Given the description of an element on the screen output the (x, y) to click on. 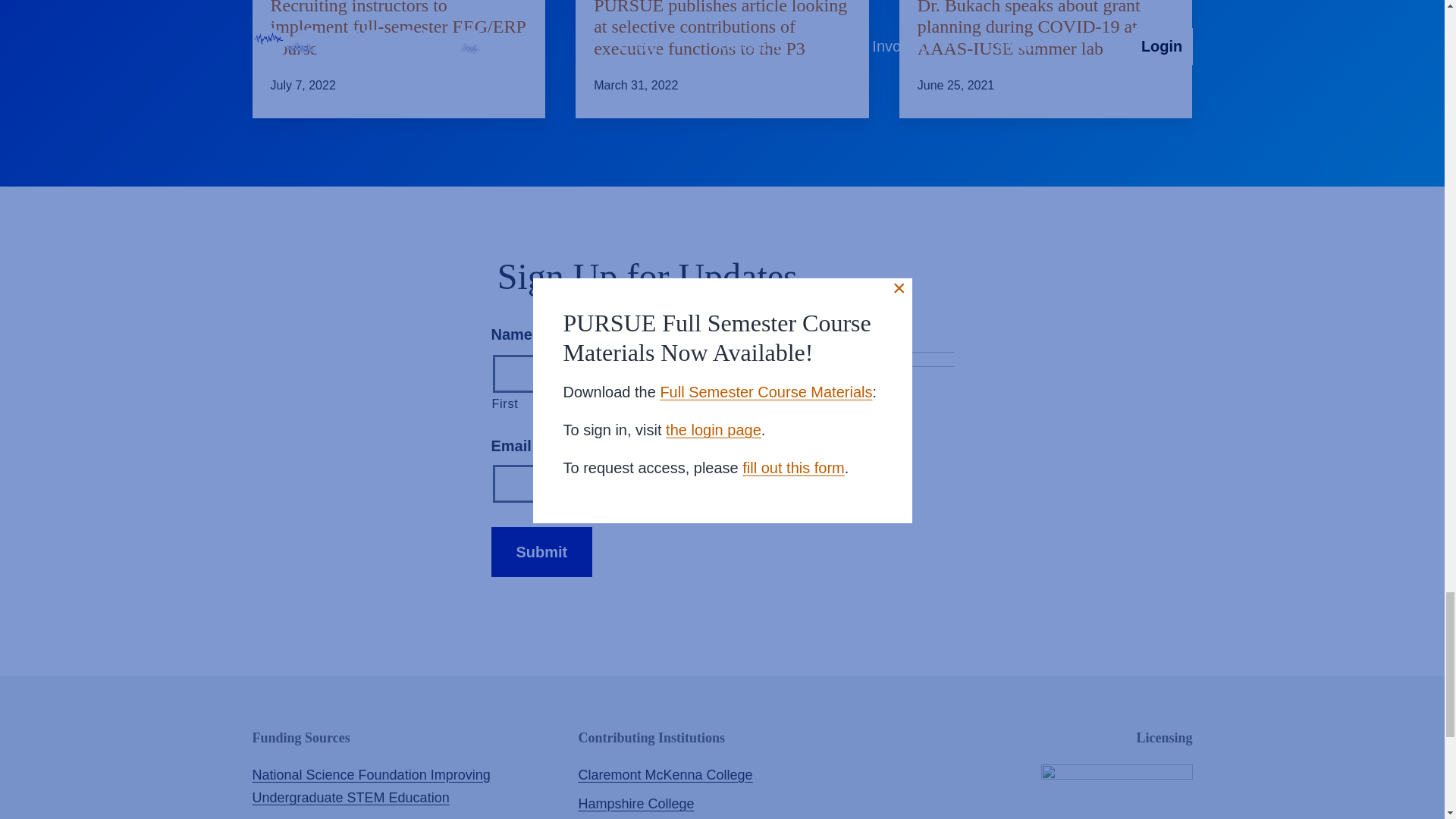
Submit (542, 552)
Claremont McKenna College (665, 774)
Submit (542, 552)
